Given the description of an element on the screen output the (x, y) to click on. 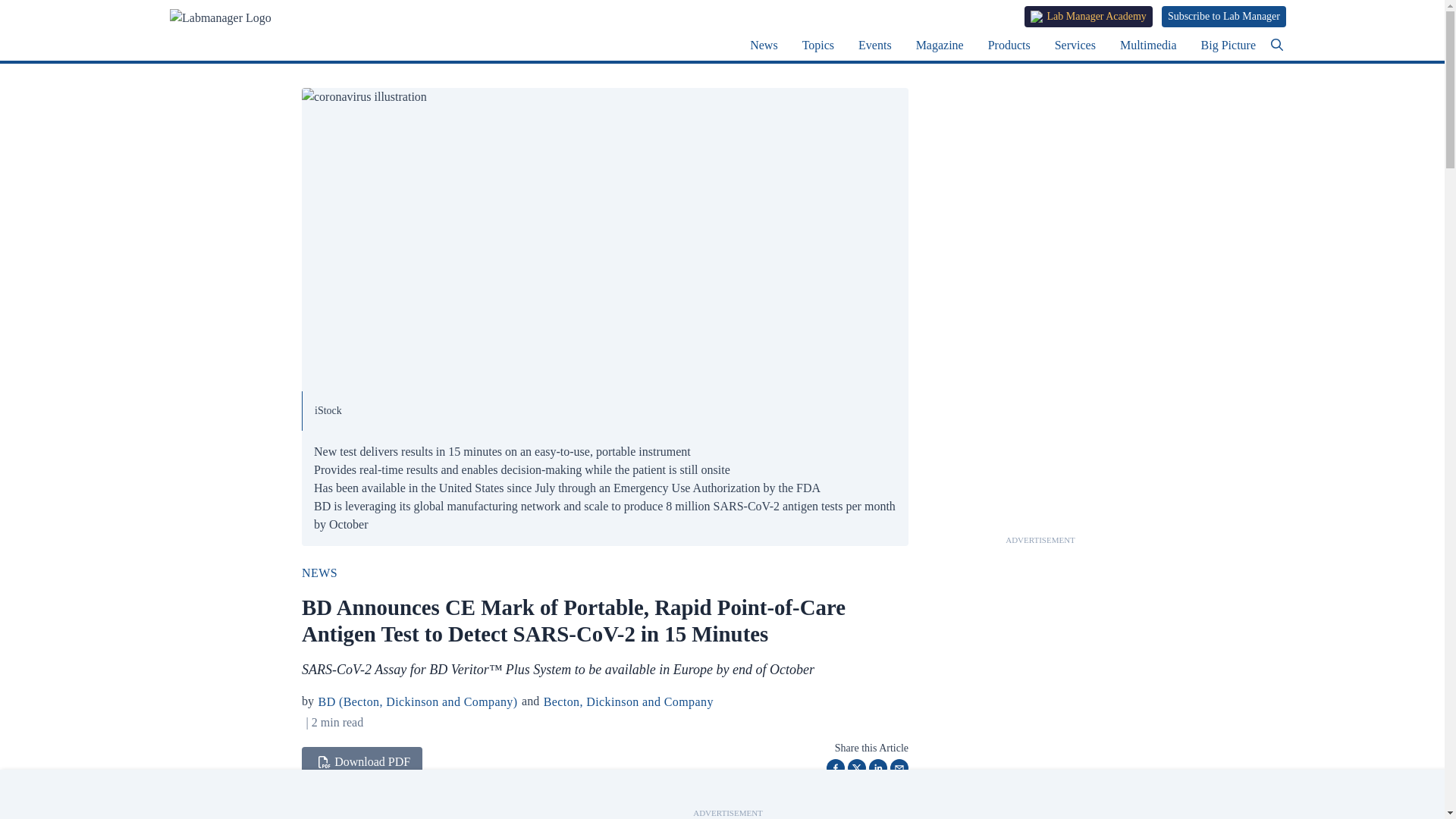
News (763, 45)
Subscribe to Lab Manager (1223, 16)
Topics (817, 45)
Lab Manager Academy (1089, 16)
